Given the description of an element on the screen output the (x, y) to click on. 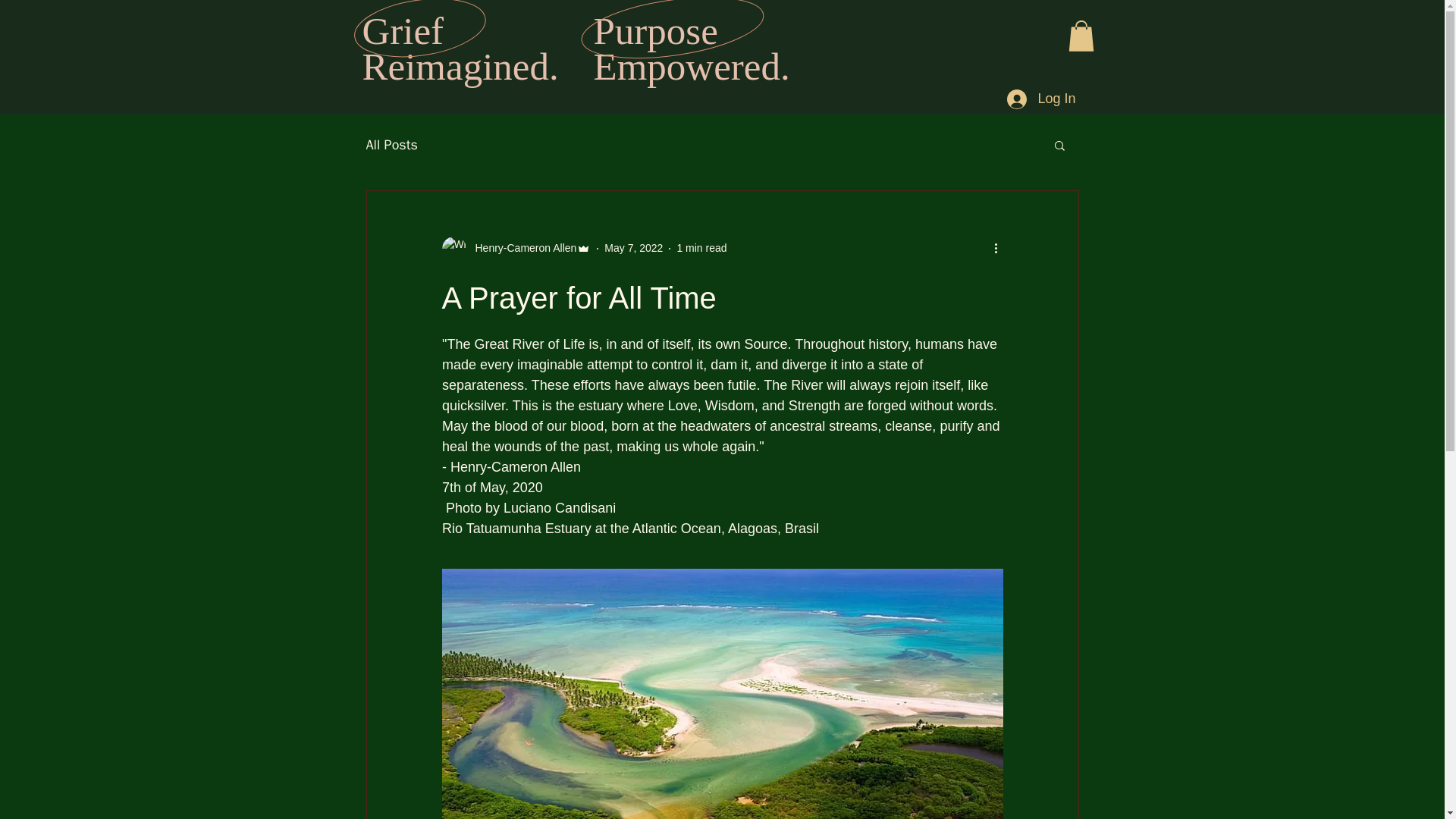
Henry-Cameron Allen (516, 248)
Henry-Cameron Allen (520, 248)
Log In (1040, 99)
1 min read (701, 247)
May 7, 2022 (633, 247)
Grief Reimagined. (460, 48)
All Posts (390, 144)
Purpose Empowered. (690, 48)
